Given the description of an element on the screen output the (x, y) to click on. 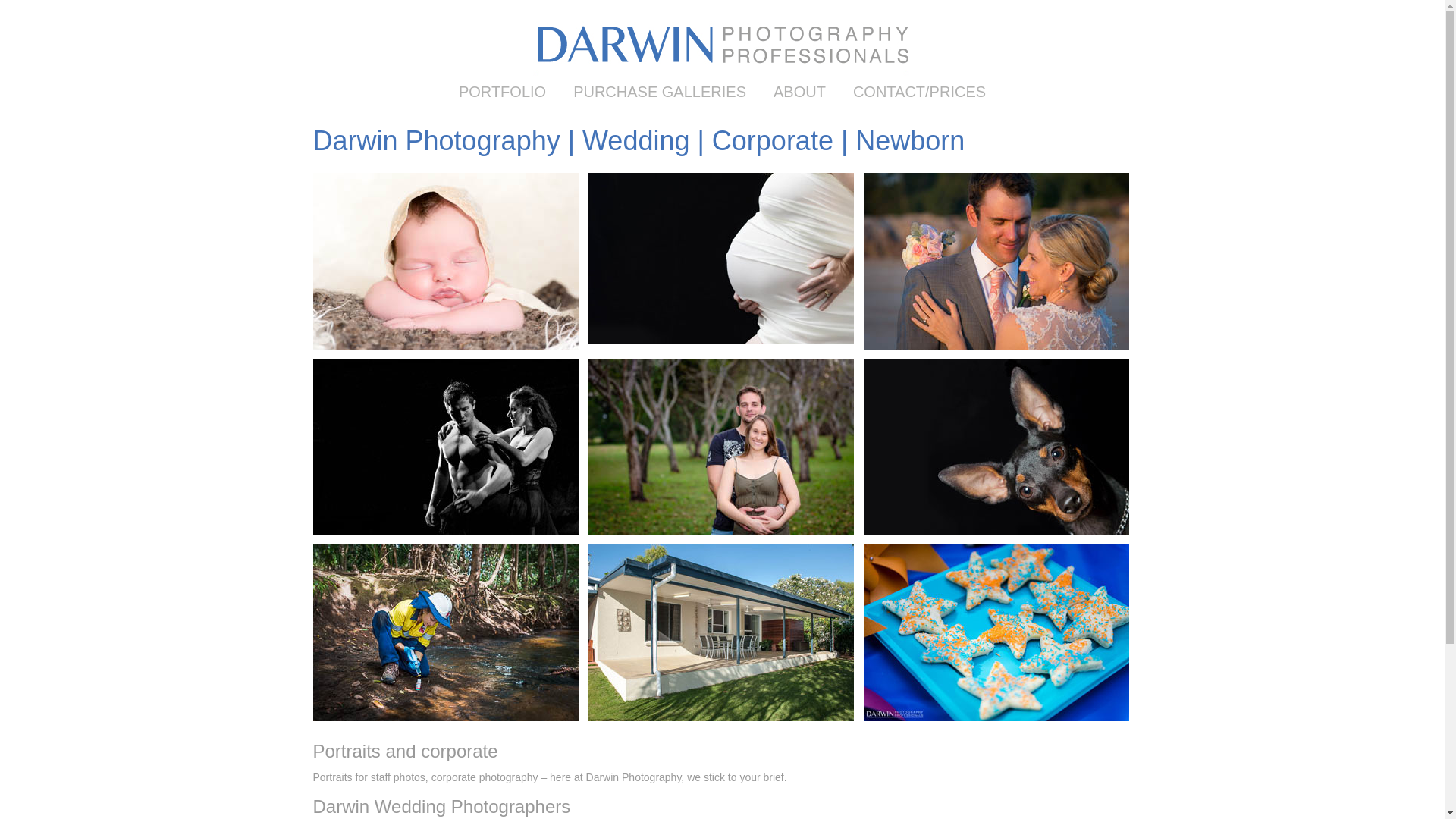
Darwin Photography Professionals Element type: hover (722, 76)
CONTACT/PRICES Element type: text (919, 91)
PURCHASE GALLERIES Element type: text (659, 91)
PORTFOLIO Element type: text (502, 91)
ABOUT Element type: text (799, 91)
